Given the description of an element on the screen output the (x, y) to click on. 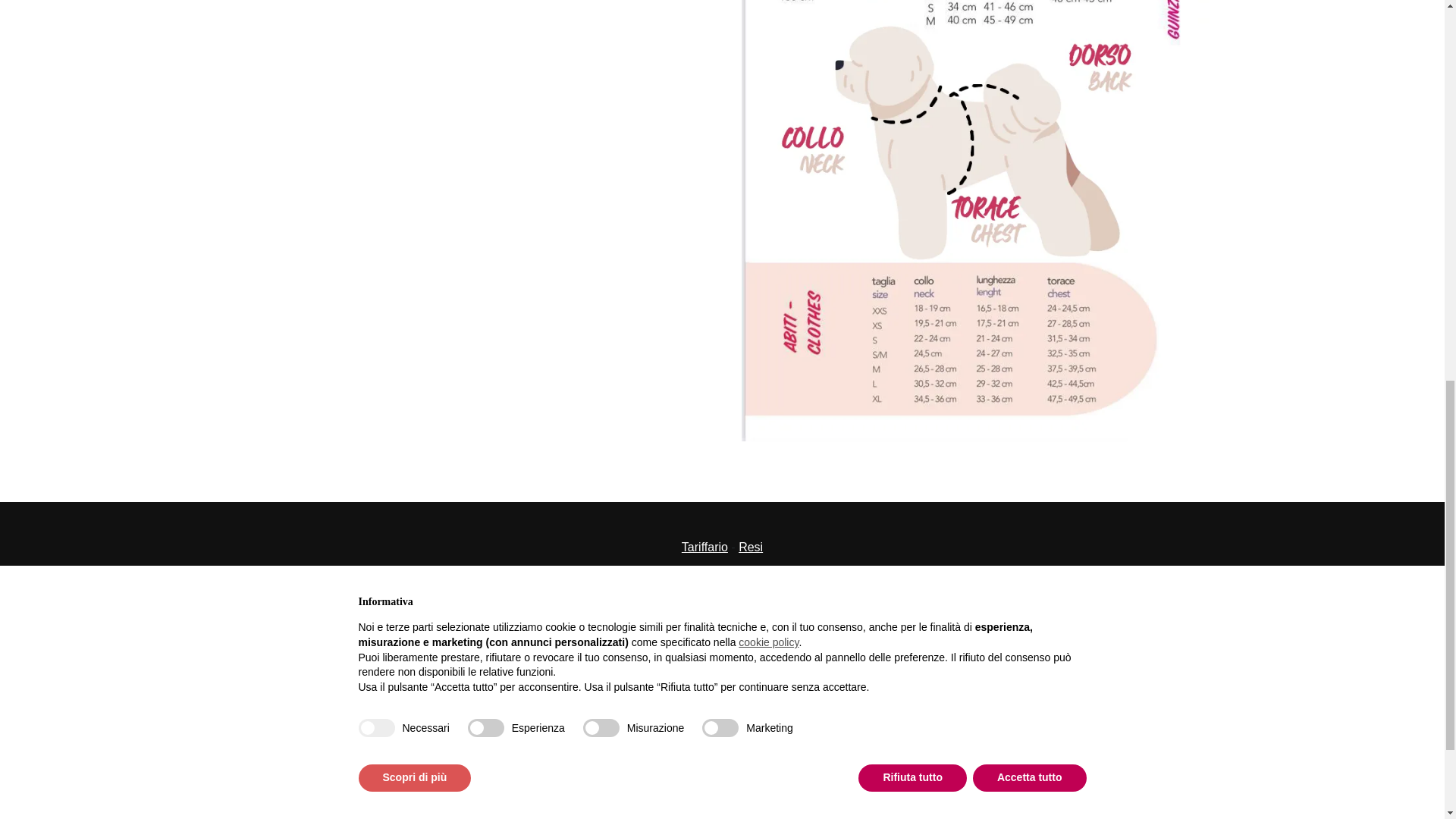
Termini e Condizioni  (799, 665)
Cookie Policy  (705, 665)
Privacy Policy  (627, 665)
